Given the description of an element on the screen output the (x, y) to click on. 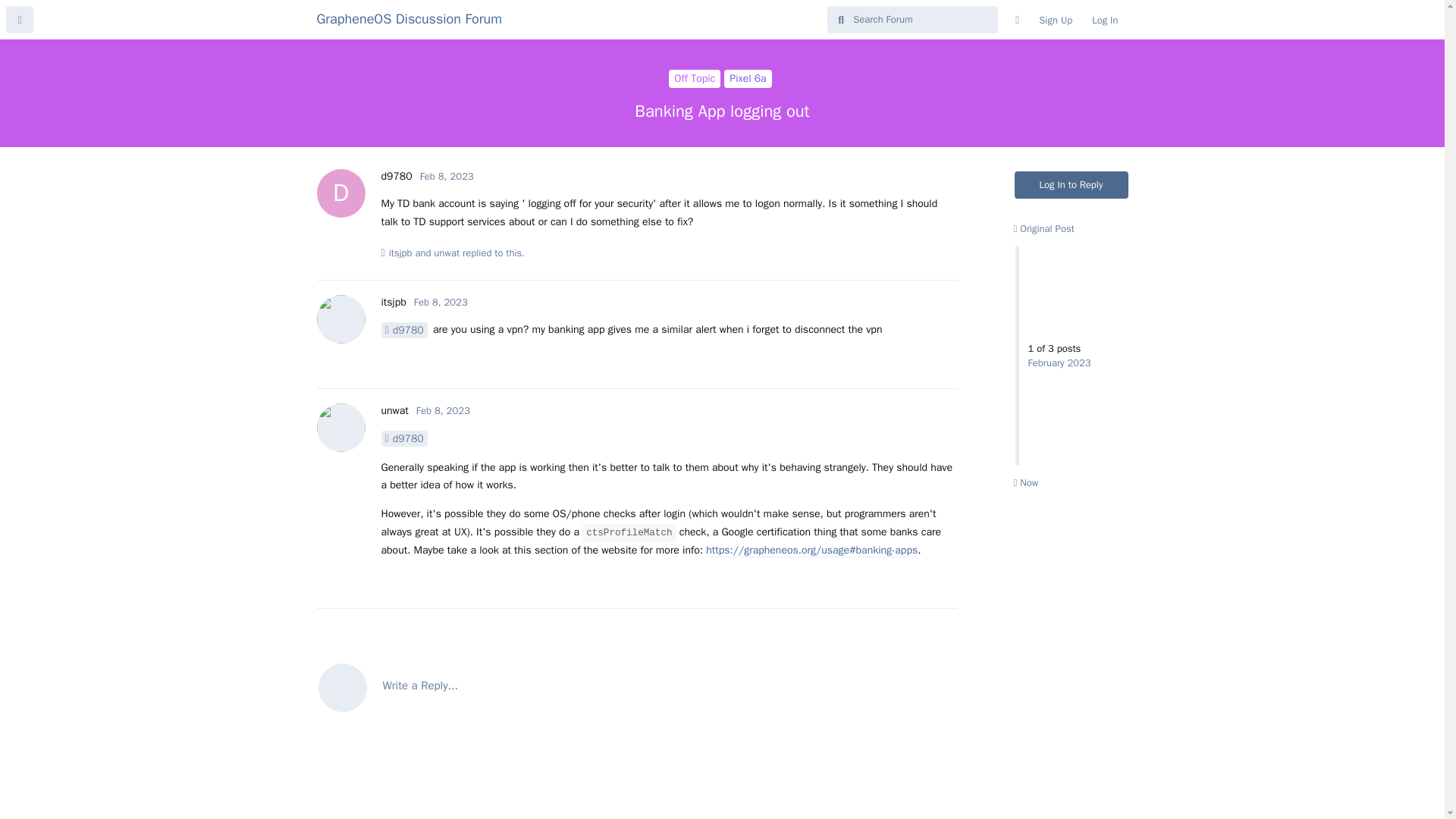
Wednesday, February 8, 2023 1:42 AM (440, 301)
Pixel 6a (747, 78)
unwat (393, 410)
Feb 8, 2023 (443, 410)
Feb 8, 2023 (440, 301)
Log In to Reply (1071, 185)
Now (1025, 481)
Original Post (1043, 228)
itsjpb (396, 175)
